Given the description of an element on the screen output the (x, y) to click on. 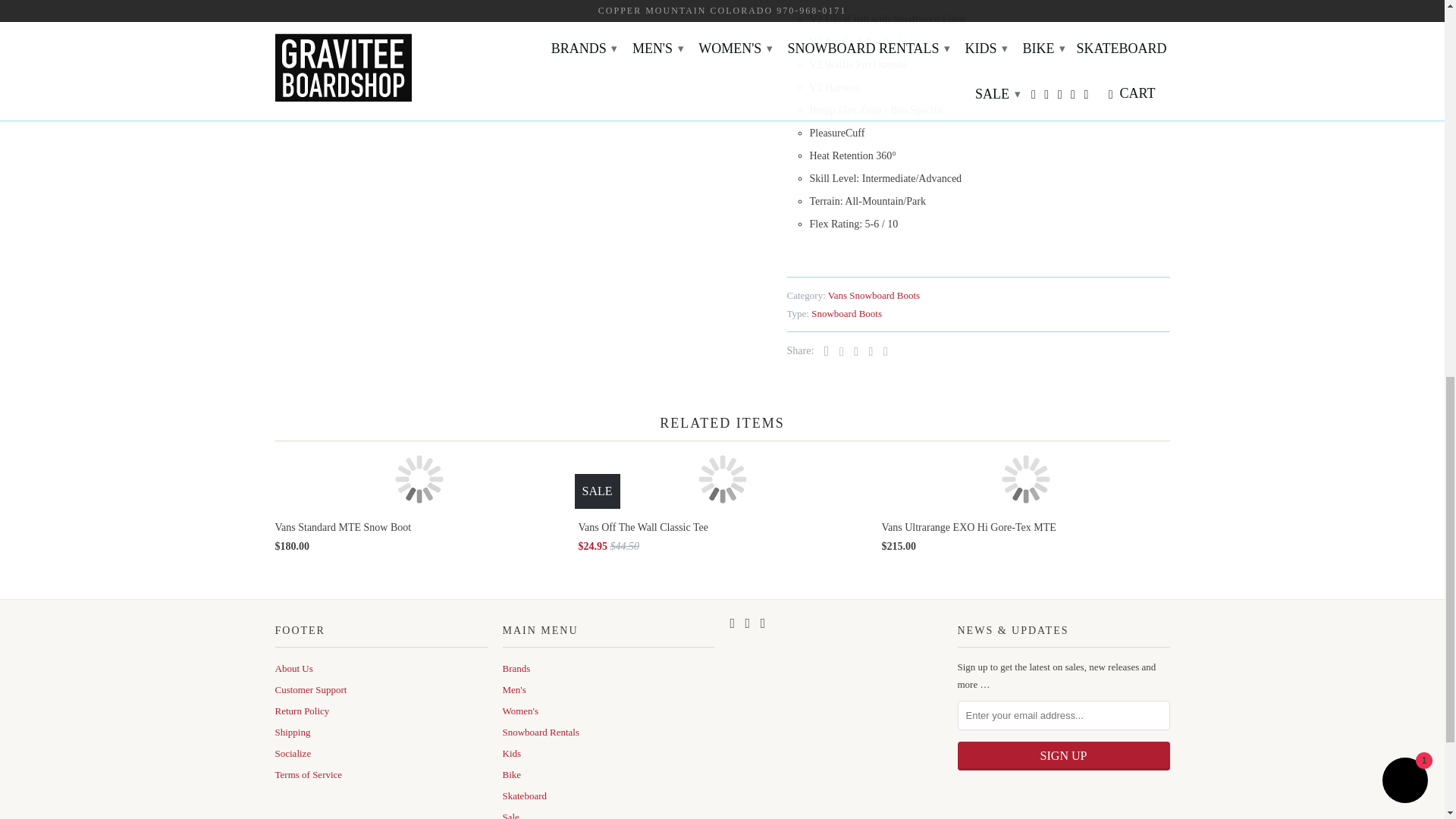
Snowboard Boots (846, 313)
Products tagged Vans Snowboard Boots (874, 295)
Sign Up (1062, 756)
Share this on Facebook (837, 350)
Email this to a friend (882, 350)
Share this on Twitter (822, 350)
Share this on Pinterest (852, 350)
